Given the description of an element on the screen output the (x, y) to click on. 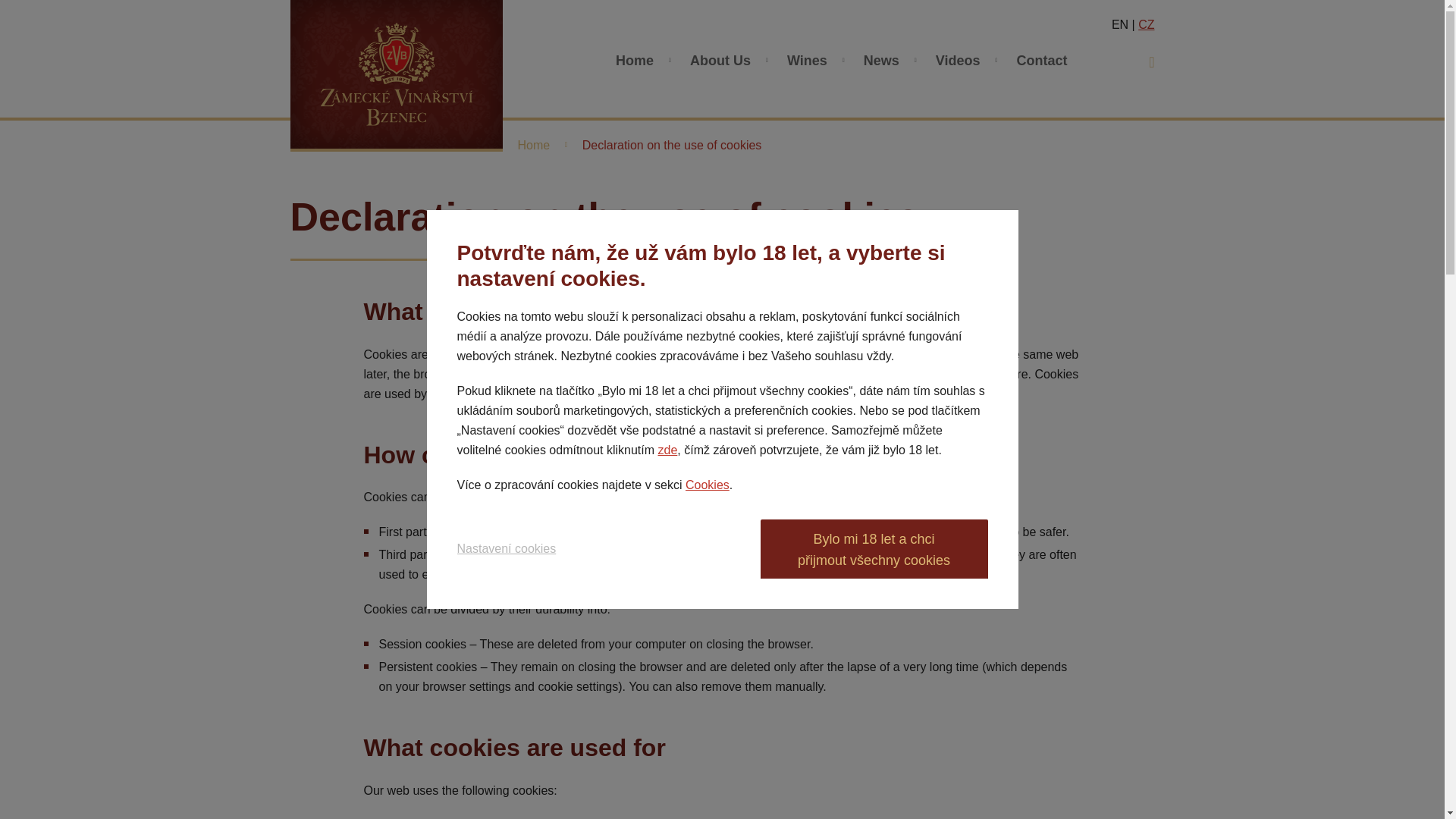
Home (533, 144)
News (881, 60)
Wines (807, 60)
CZ (1146, 24)
About Us (720, 60)
Videos (957, 60)
Cookies (707, 484)
Home (633, 60)
zde (668, 449)
Contact (1041, 60)
